Given the description of an element on the screen output the (x, y) to click on. 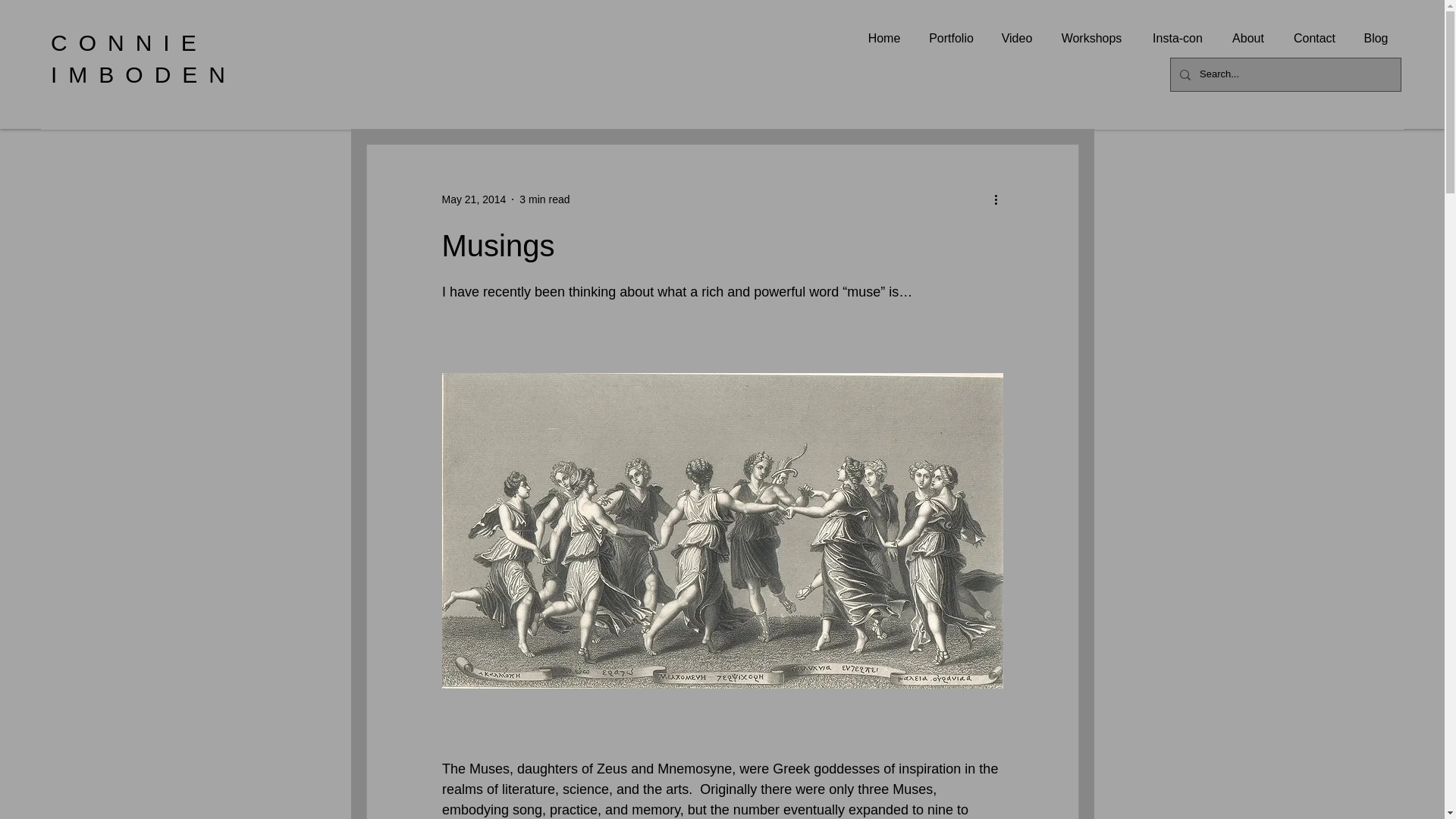
May 21, 2014 (473, 198)
Home (883, 38)
3 min read (544, 198)
Portfolio (951, 38)
Workshops (1091, 38)
Insta-con (1177, 38)
Video (1016, 38)
About (1247, 38)
